Given the description of an element on the screen output the (x, y) to click on. 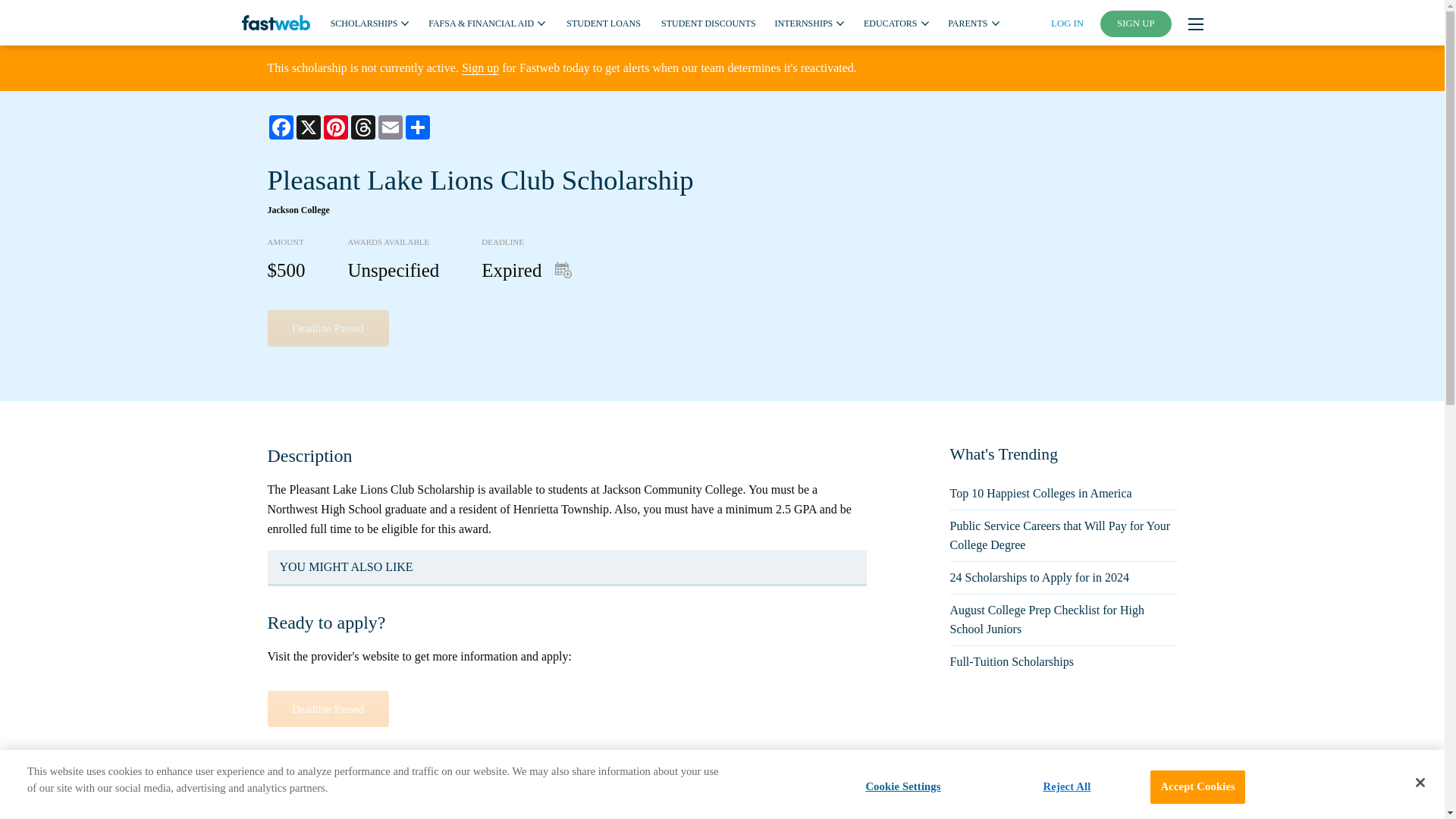
STUDENT LOANS (603, 22)
SIGN UP (1136, 23)
LOG IN (1067, 23)
STUDENT DISCOUNTS (708, 22)
